Given the description of an element on the screen output the (x, y) to click on. 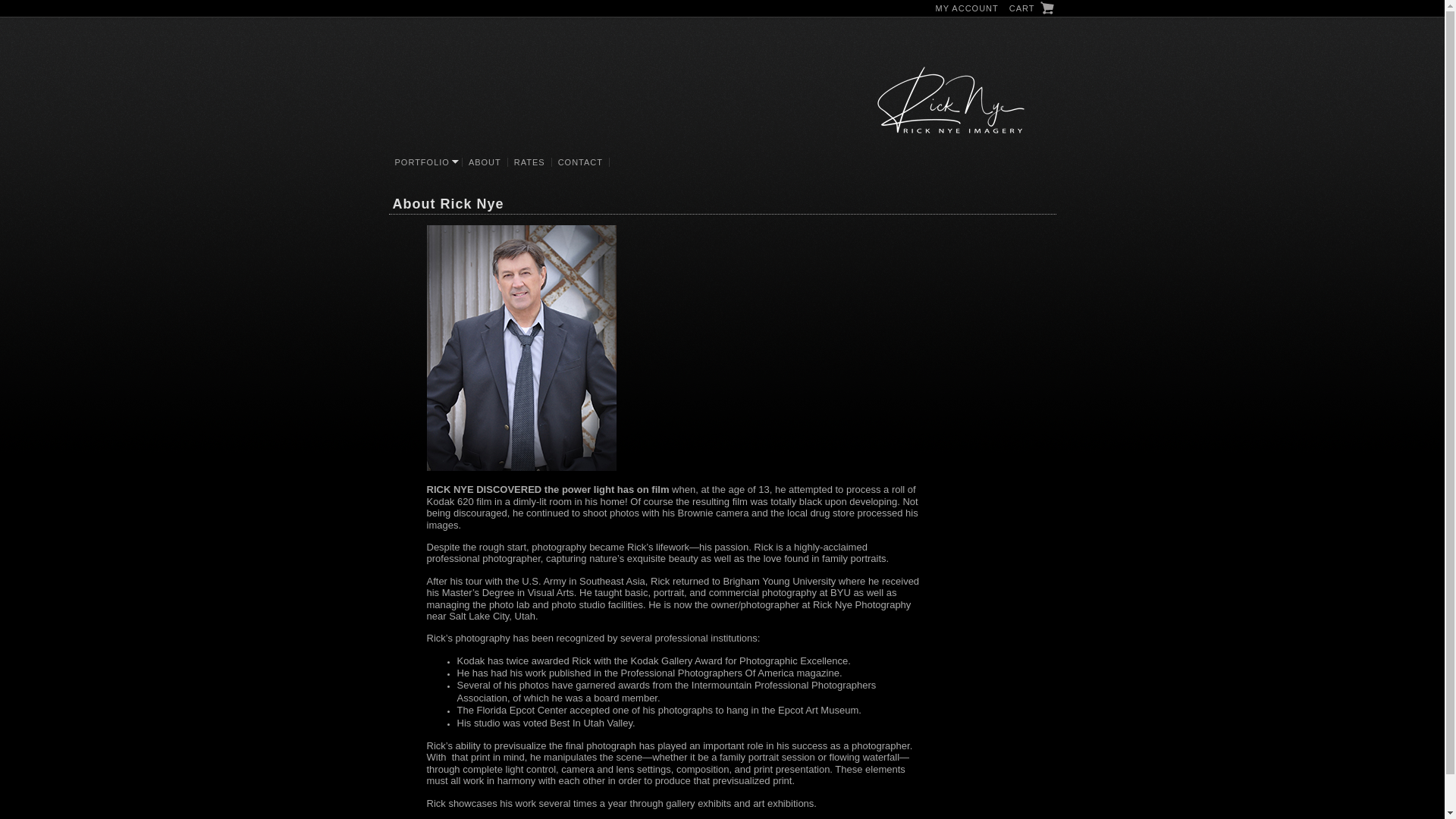
MY ACCOUNT (967, 8)
RATES (529, 162)
CART (1031, 8)
ABOUT (484, 162)
PORTFOLIO (425, 162)
CONTACT (580, 162)
Cart (1031, 8)
